Given the description of an element on the screen output the (x, y) to click on. 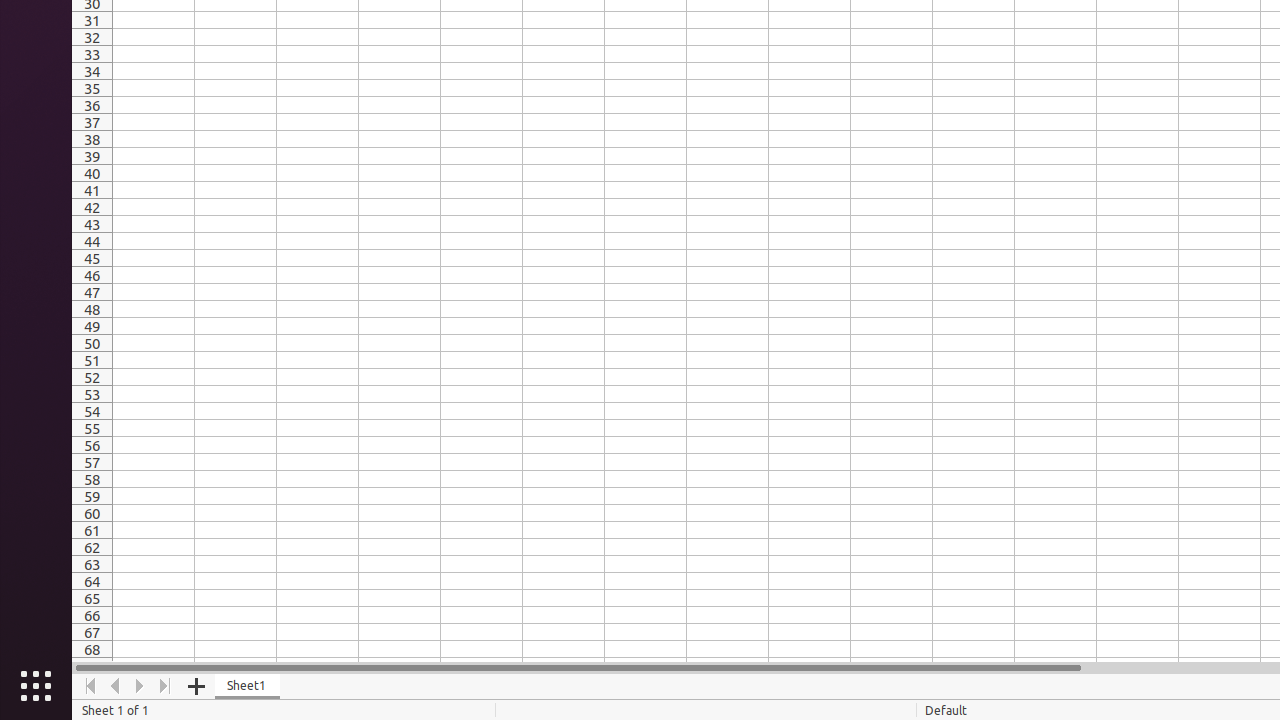
Sheet1 Element type: page-tab (247, 686)
